Given the description of an element on the screen output the (x, y) to click on. 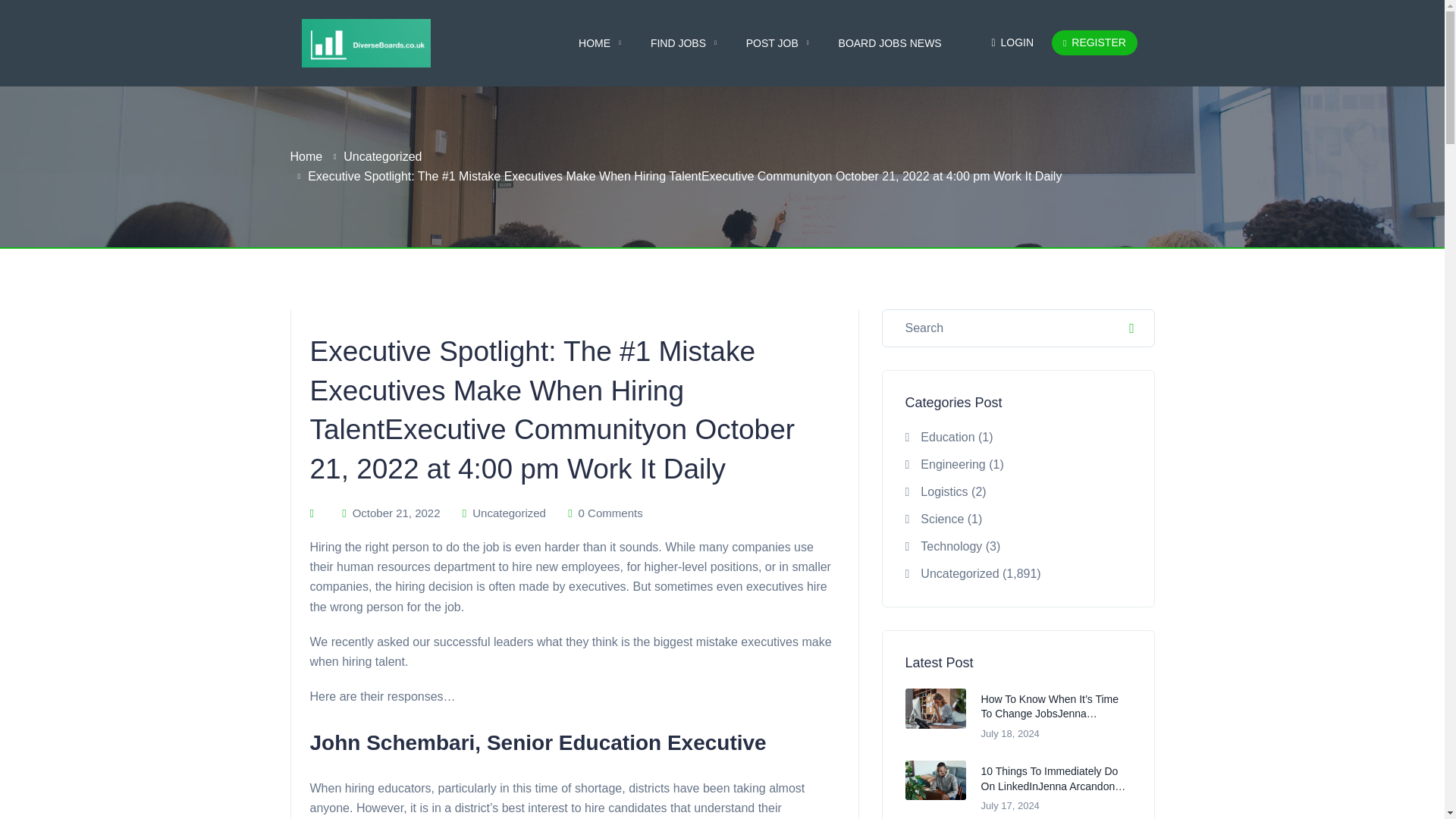
Register (1094, 42)
HOME (599, 43)
Login (1020, 42)
POST JOB (777, 43)
FIND JOBS (683, 43)
